Given the description of an element on the screen output the (x, y) to click on. 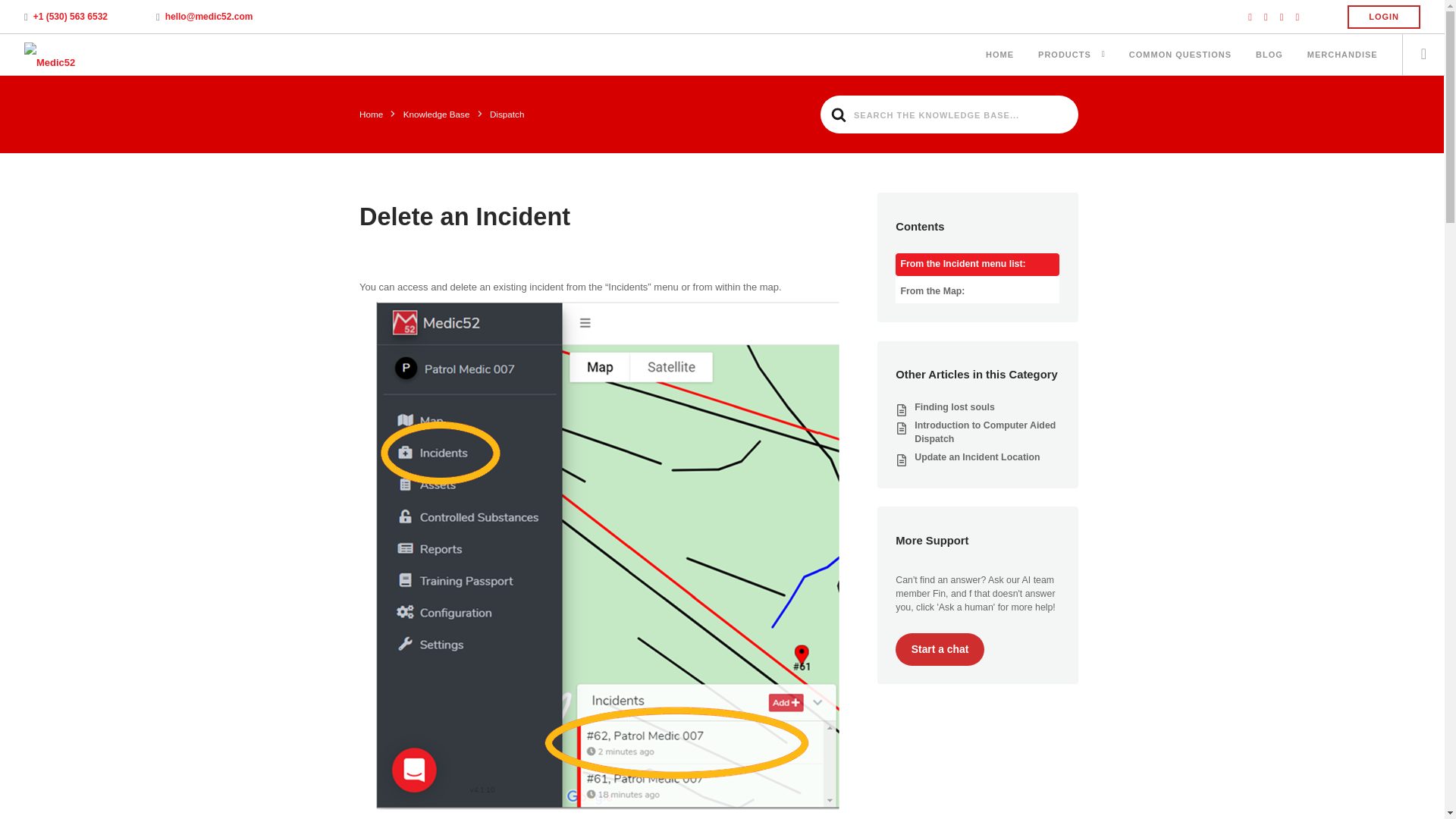
PRODUCTS (1064, 55)
Dispatch (506, 113)
Start a chat (939, 649)
Introduction to Computer Aided Dispatch (984, 432)
MERCHANDISE (1342, 55)
COMMON QUESTIONS (1180, 55)
LOGIN (1384, 16)
From the Map: (977, 291)
From the Incident menu list: (977, 264)
Knowledge Base (436, 113)
